Given the description of an element on the screen output the (x, y) to click on. 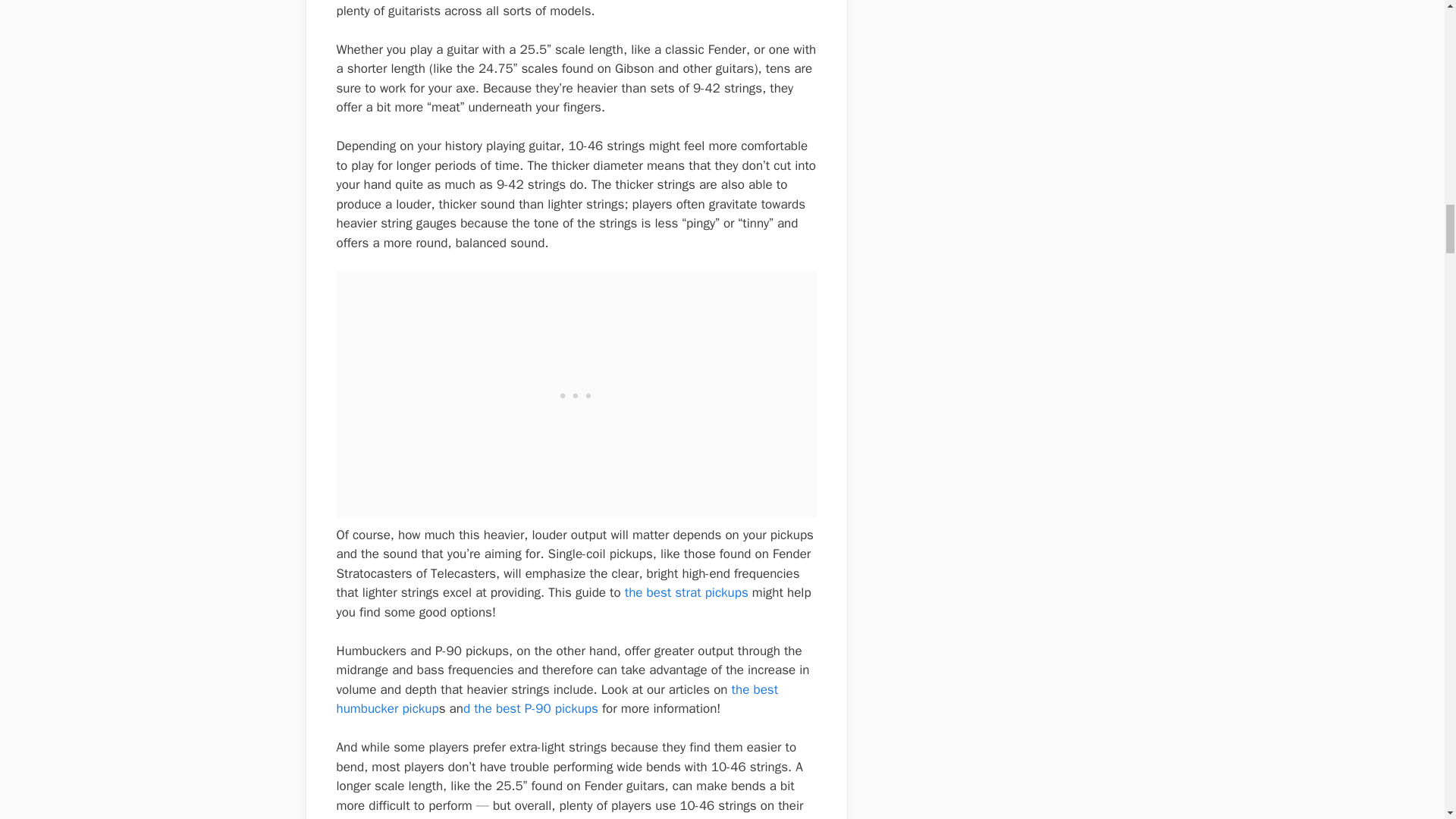
the best humbucker pickup (557, 699)
d the best P-90 pickups (530, 708)
the best strat pickups (686, 592)
